Given the description of an element on the screen output the (x, y) to click on. 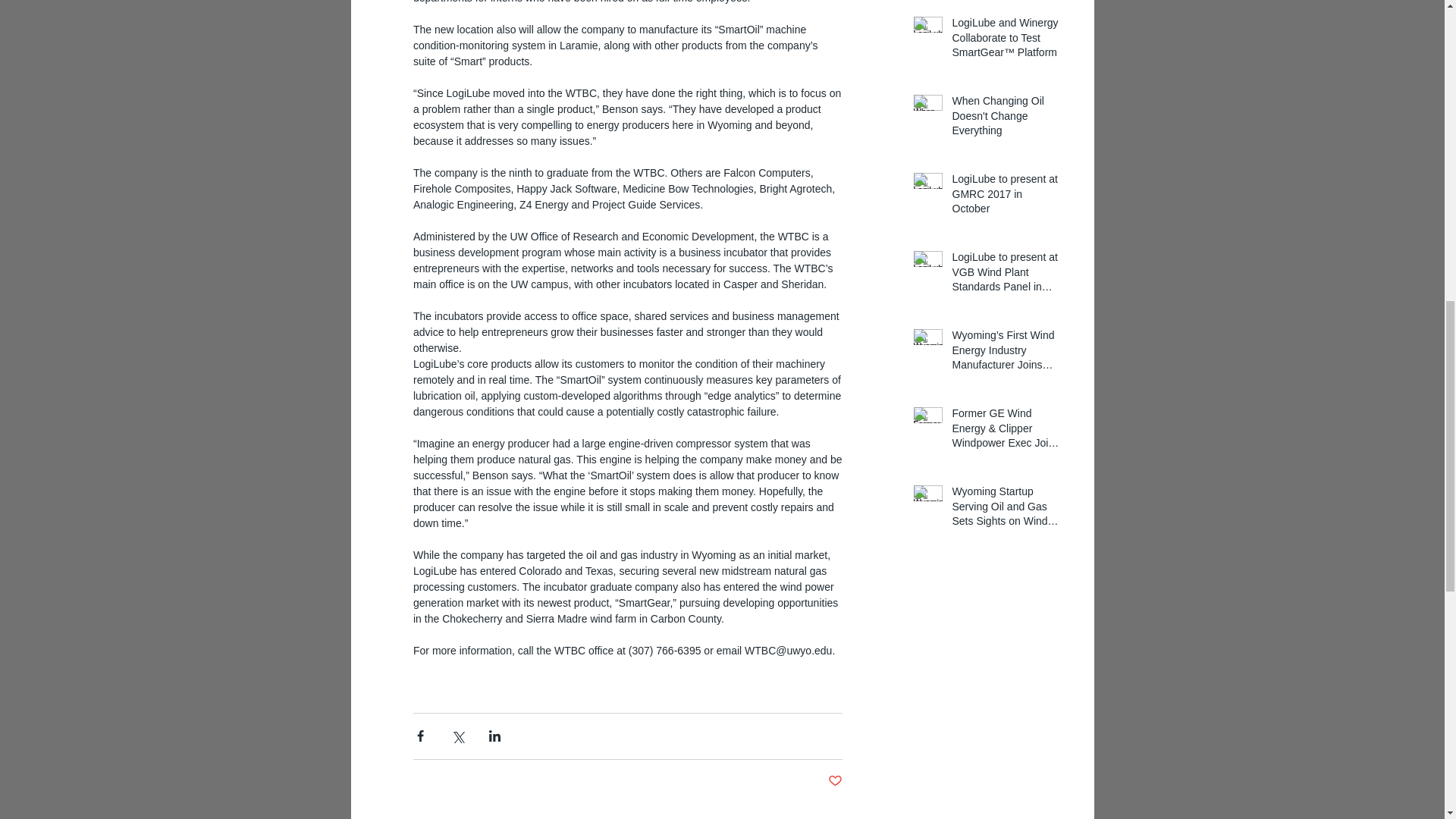
When Changing Oil Doesn't Change Everything (1006, 119)
LogiLube to present at GMRC 2017 in October (1006, 196)
Post not marked as liked (835, 781)
